Given the description of an element on the screen output the (x, y) to click on. 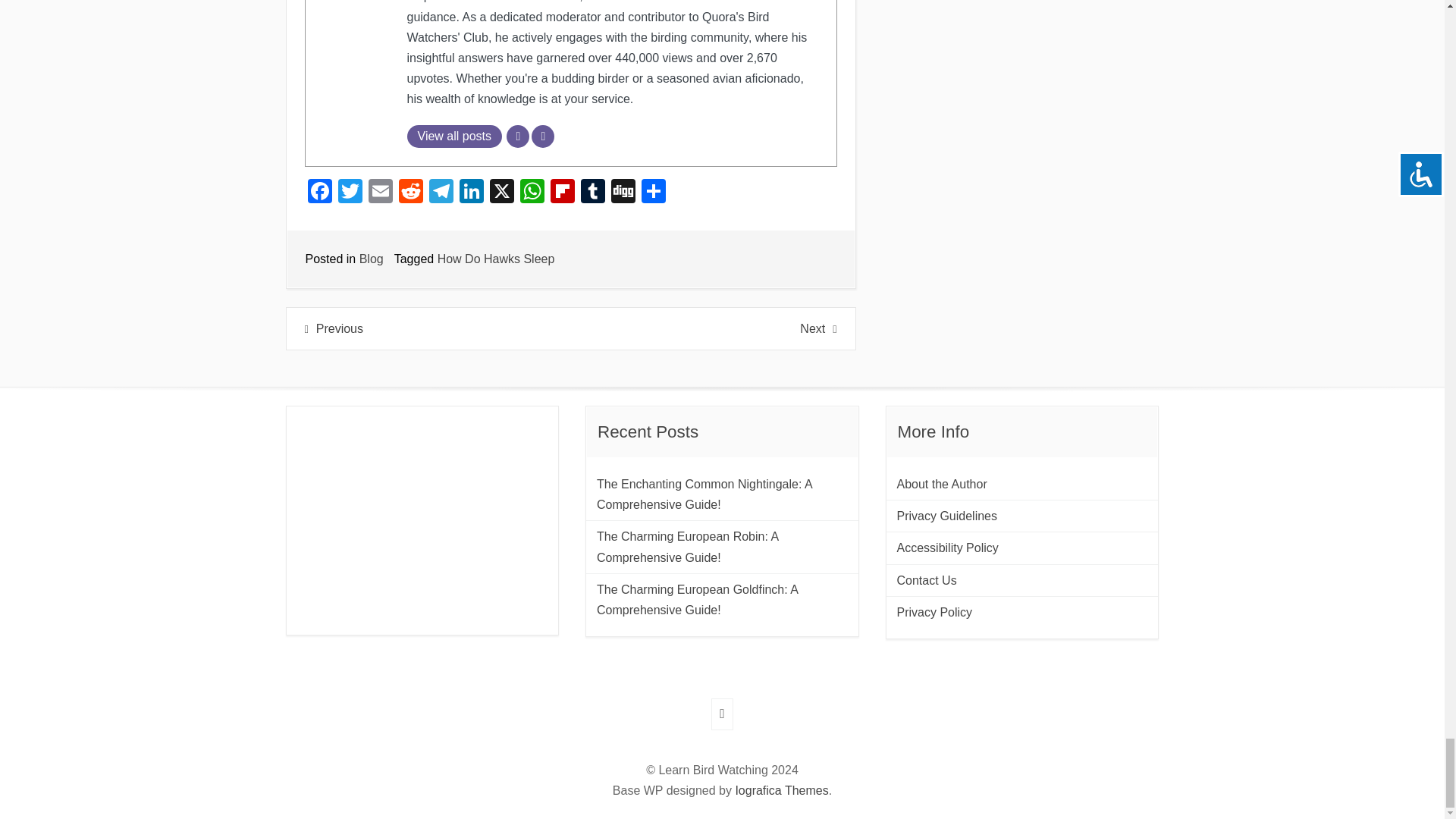
Tumblr (593, 193)
Telegram (441, 193)
Digg (623, 193)
Twitter (349, 193)
WhatsApp (531, 193)
Facebook (319, 193)
View all posts (454, 136)
Email (380, 193)
LinkedIn (471, 193)
X (501, 193)
